Given the description of an element on the screen output the (x, y) to click on. 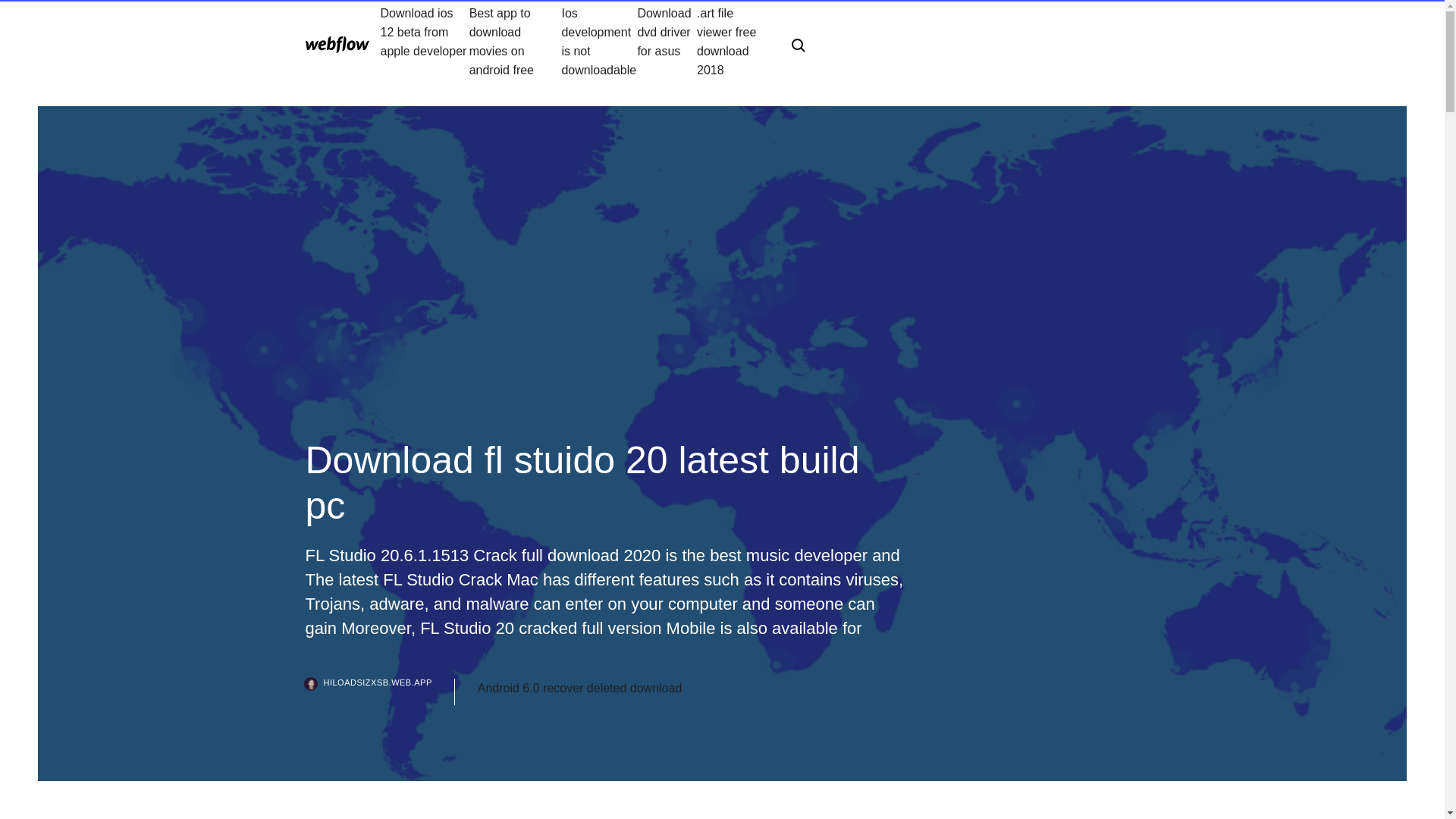
.art file viewer free download 2018 (732, 41)
Download ios 12 beta from apple developer (424, 41)
Best app to download movies on android free (515, 41)
Android 6.0 recover deleted download (579, 687)
Ios development is not downloadable (598, 41)
HILOADSIZXSB.WEB.APP (379, 691)
